Given the description of an element on the screen output the (x, y) to click on. 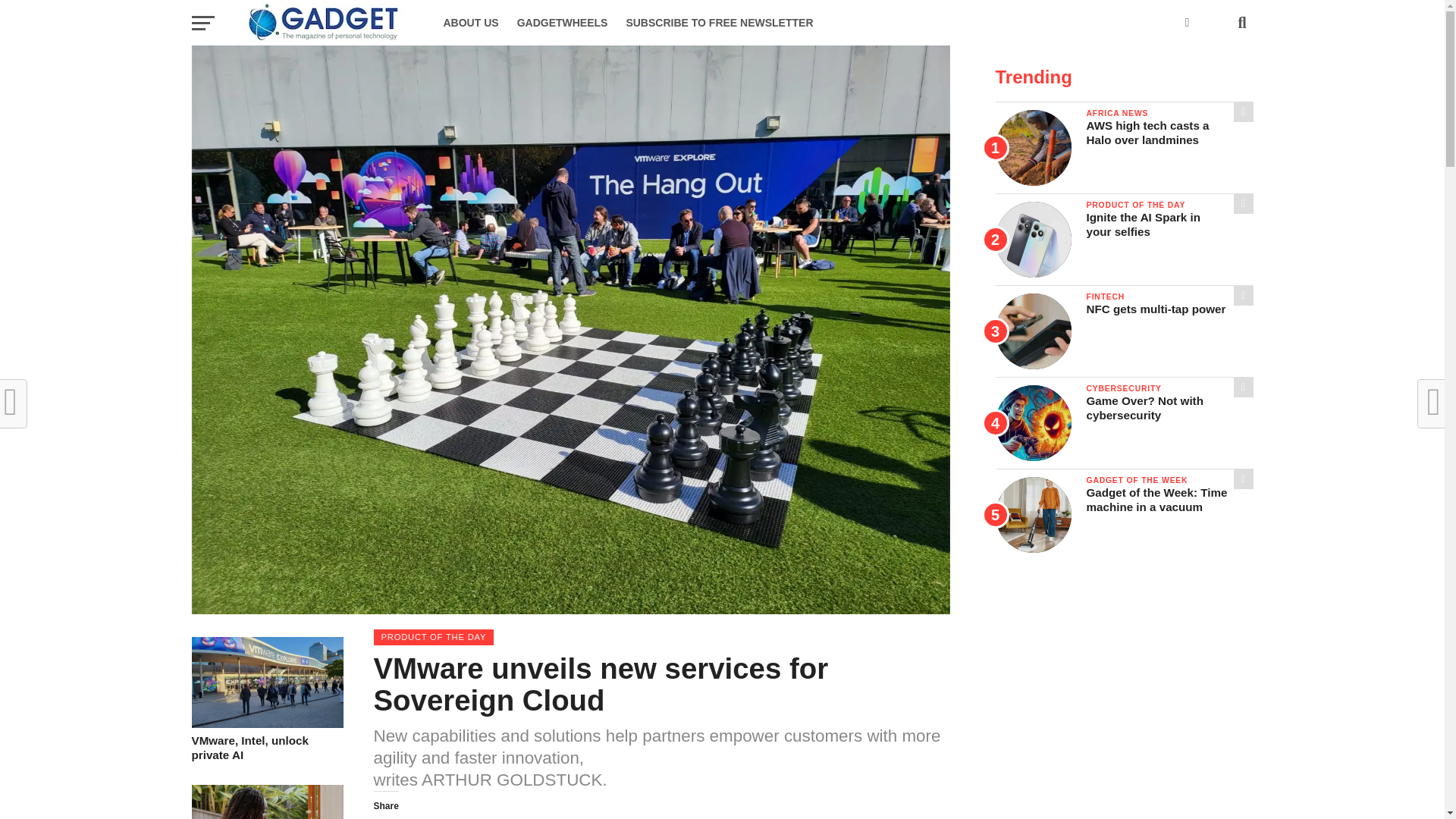
ABOUT US (469, 22)
SUBSCRIBE TO FREE NEWSLETTER (718, 22)
GADGETWHEELS (266, 747)
